Given the description of an element on the screen output the (x, y) to click on. 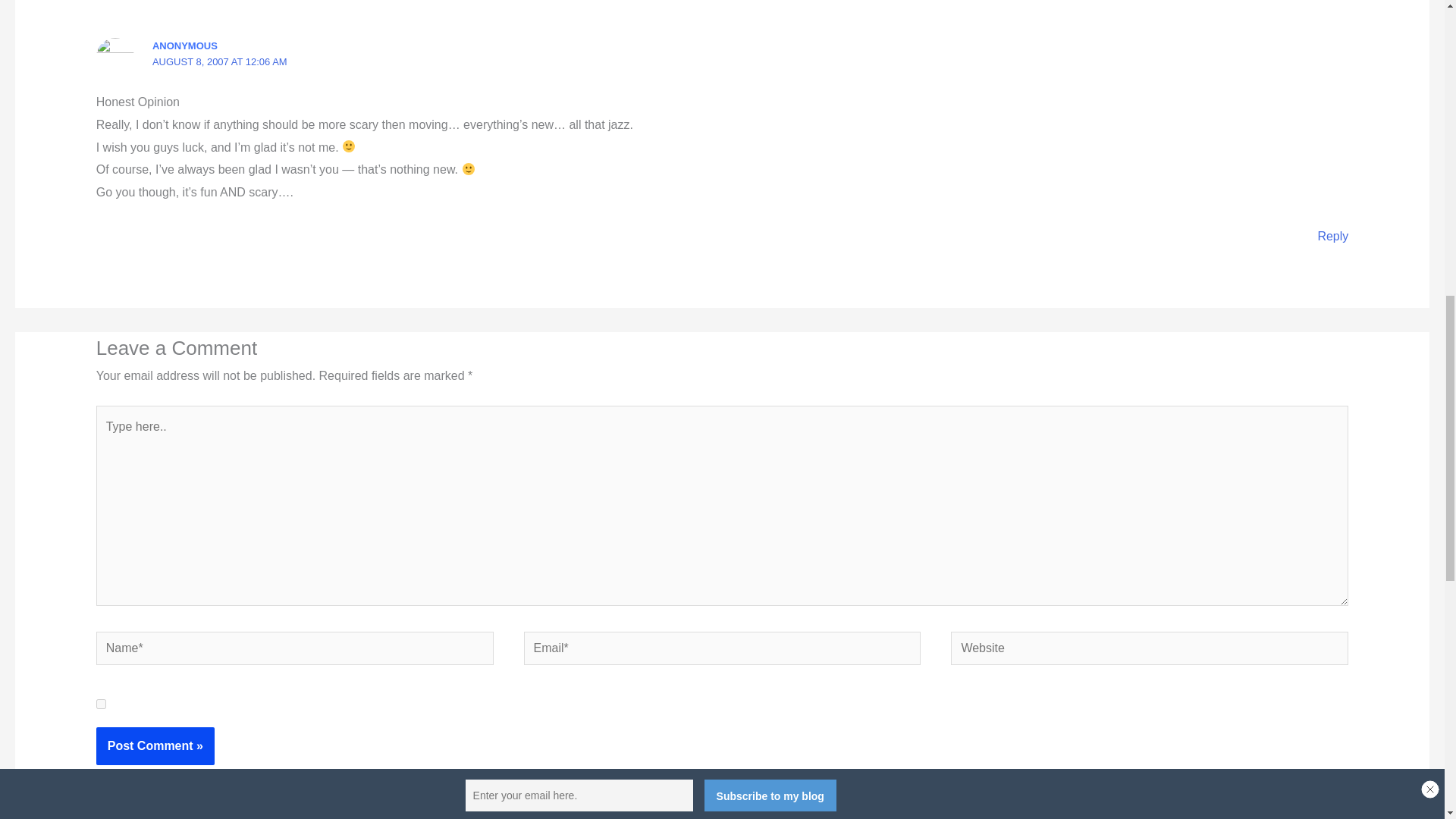
1 (101, 704)
Reply (1332, 236)
AUGUST 8, 2007 AT 12:06 AM (219, 61)
